Given the description of an element on the screen output the (x, y) to click on. 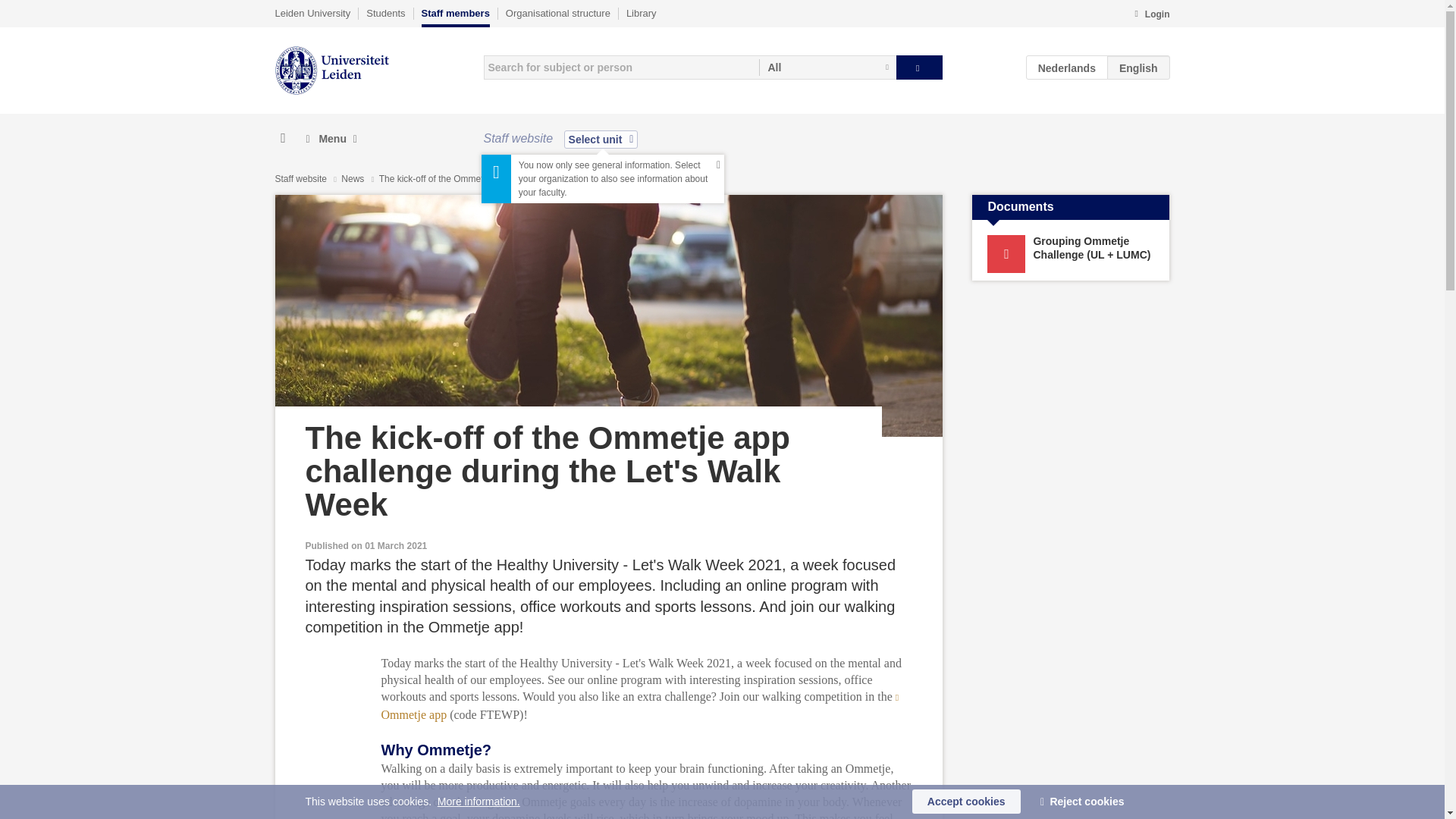
Organisational structure (557, 13)
NL (1067, 67)
All (827, 67)
Leiden University (312, 13)
Login (1151, 14)
Staff members (455, 17)
Search (919, 67)
Select unit (601, 139)
Menu (330, 139)
Students (385, 13)
Library (641, 13)
